Given the description of an element on the screen output the (x, y) to click on. 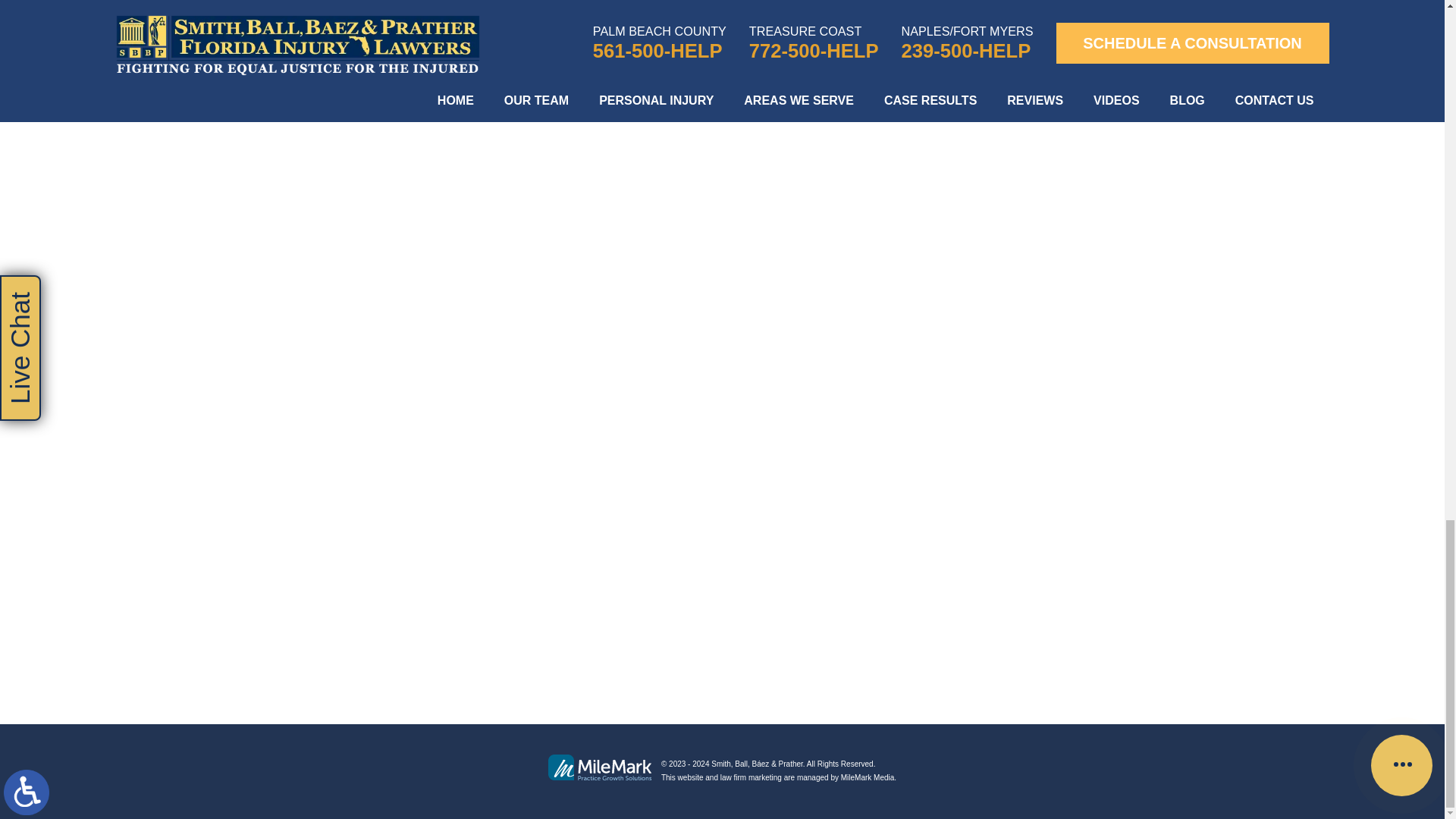
Twitter (165, 20)
2019-08-01T00:00:00-0700 (406, 49)
LinkedIn (175, 20)
Facebook (155, 20)
